Given the description of an element on the screen output the (x, y) to click on. 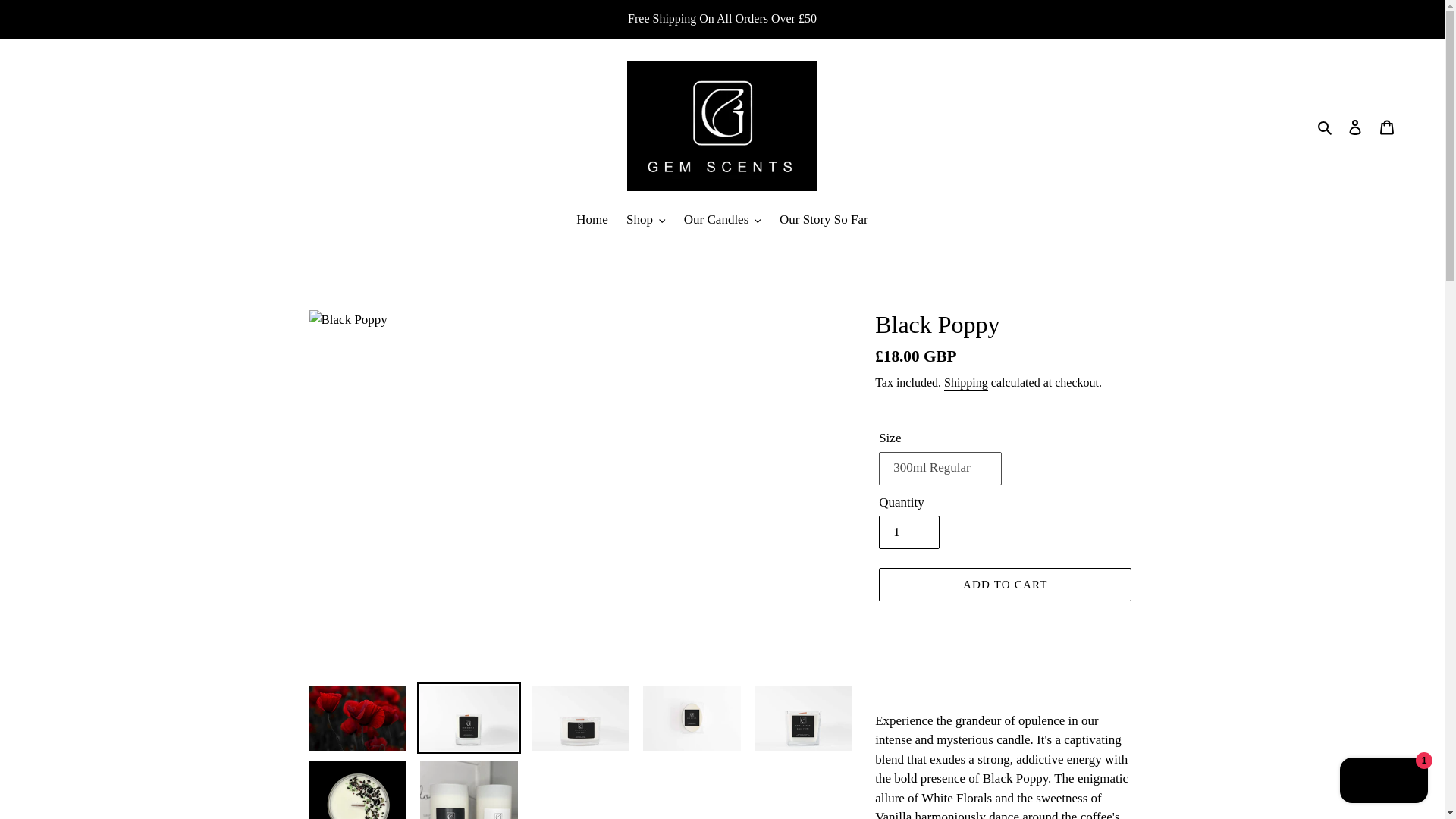
Search (1326, 126)
Cart (1387, 126)
1 (909, 531)
Shopify online store chat (1383, 781)
Log in (1355, 126)
Our Candles (722, 220)
Shop (645, 220)
Home (592, 220)
Our Story So Far (823, 220)
